Given the description of an element on the screen output the (x, y) to click on. 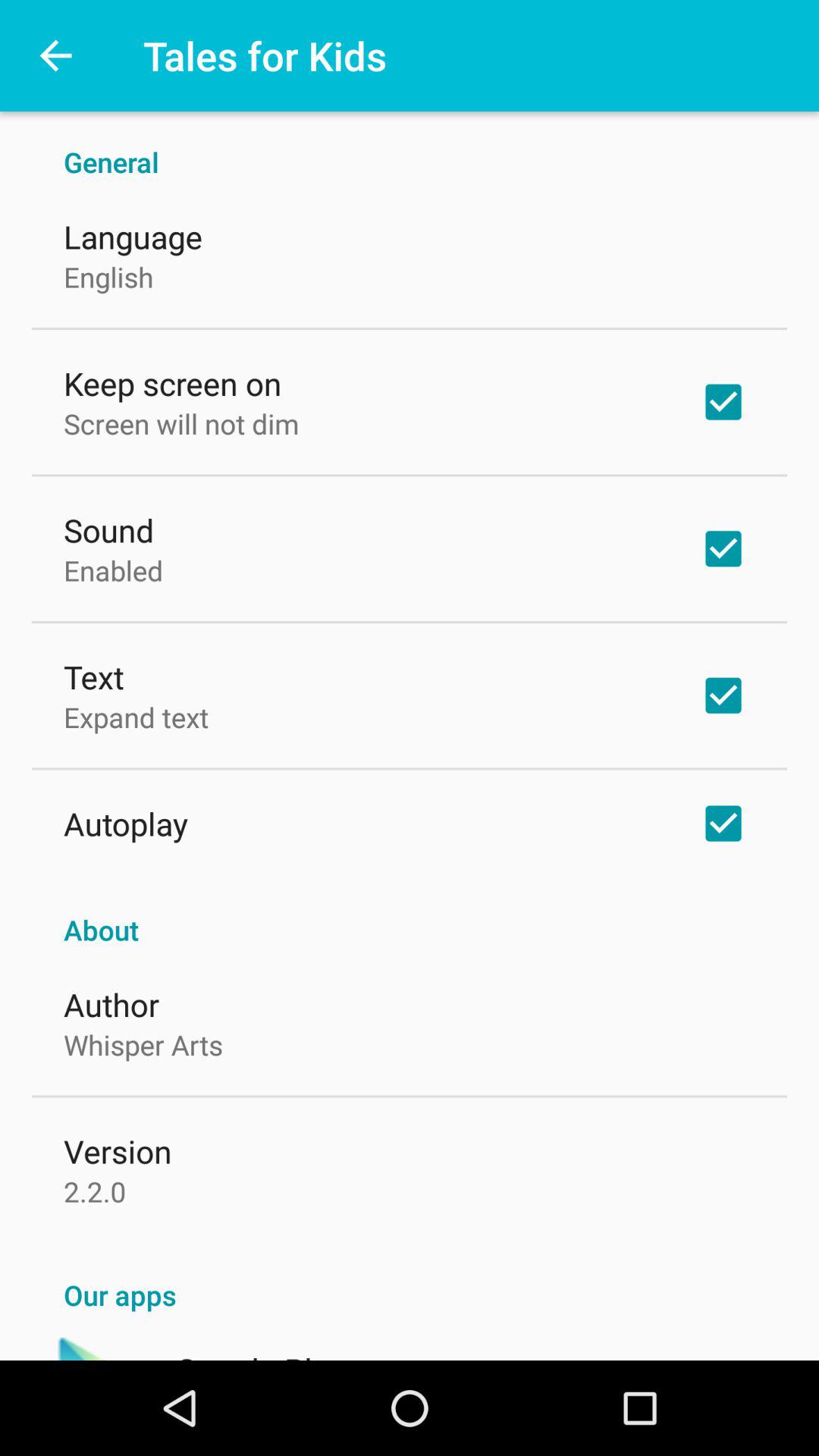
flip to the our apps (409, 1278)
